Given the description of an element on the screen output the (x, y) to click on. 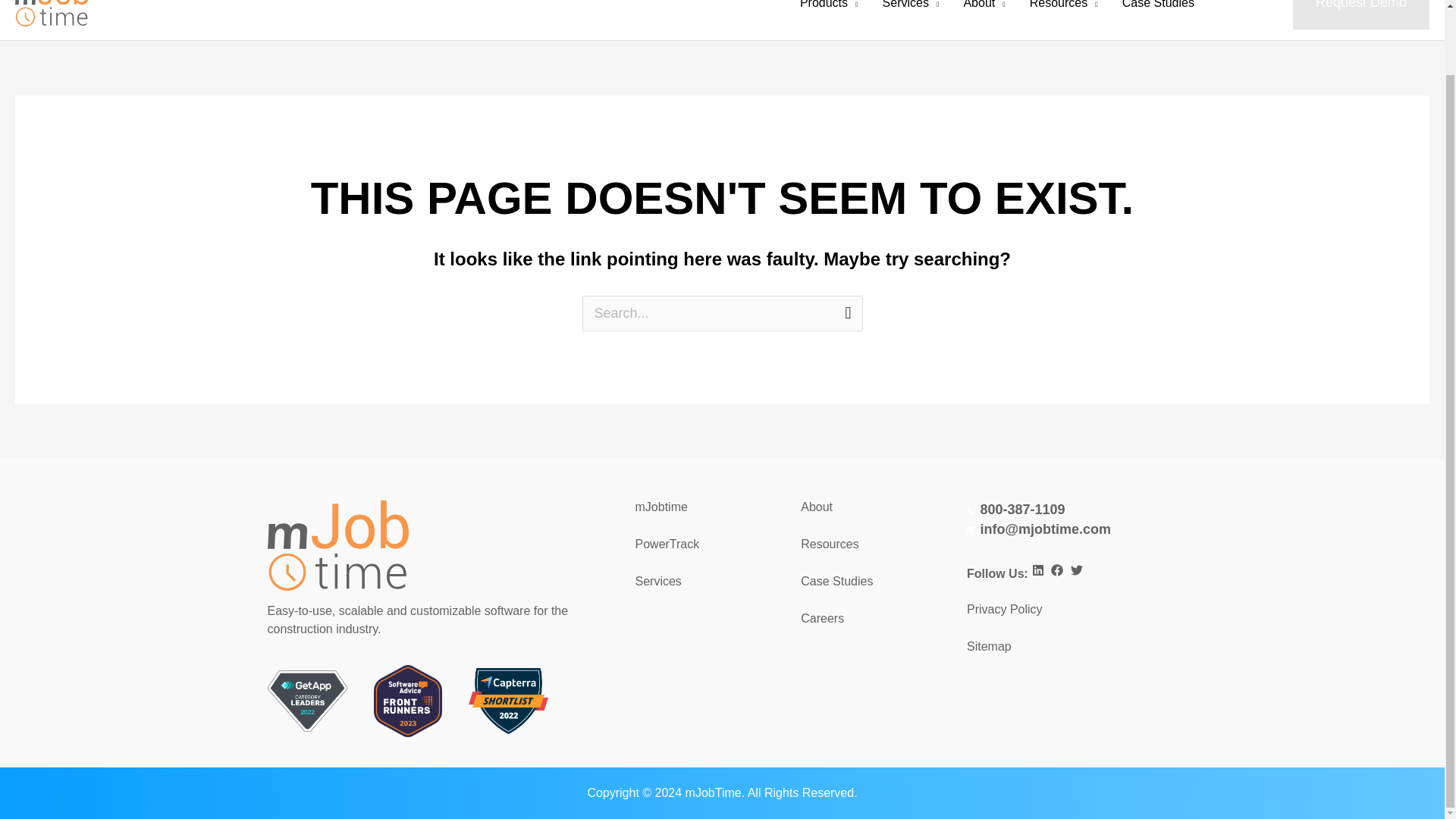
Shortlist Badge (508, 700)
Frontrunners Badge (408, 701)
Category Leaders Badge (306, 701)
Products (828, 20)
